Given the description of an element on the screen output the (x, y) to click on. 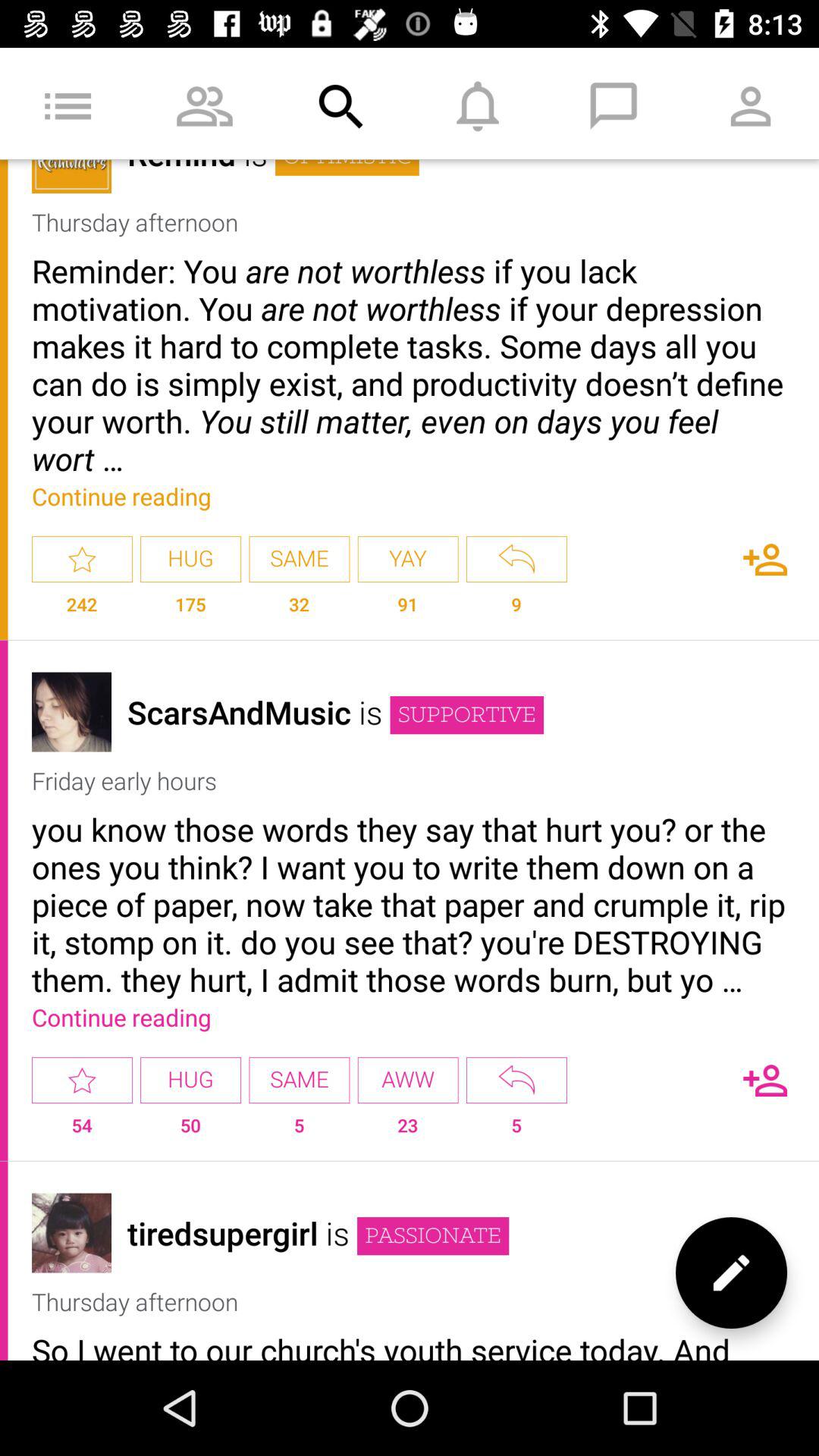
open the app next to the hug icon (81, 1080)
